Given the description of an element on the screen output the (x, y) to click on. 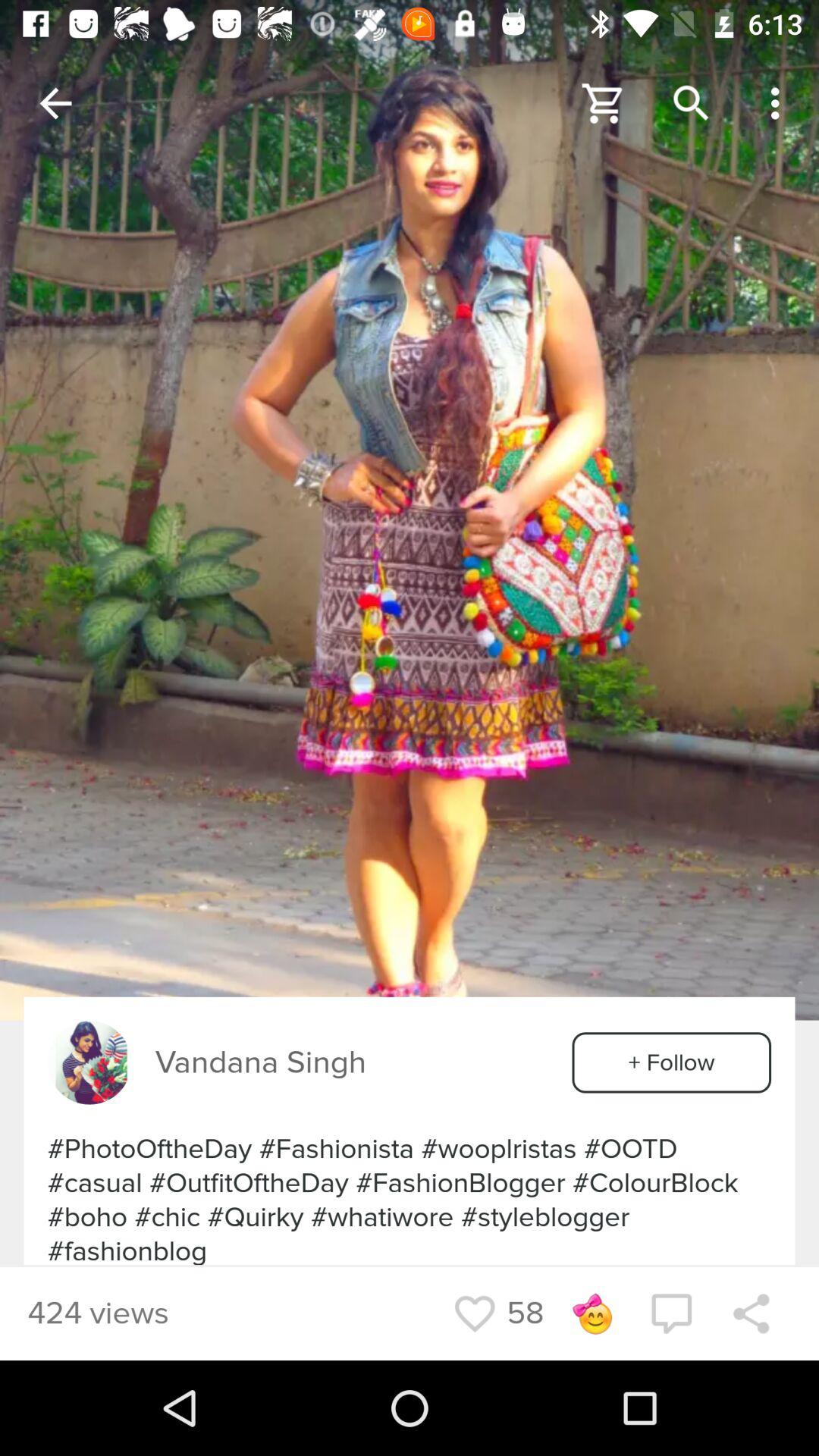
adversitiment (89, 1062)
